Given the description of an element on the screen output the (x, y) to click on. 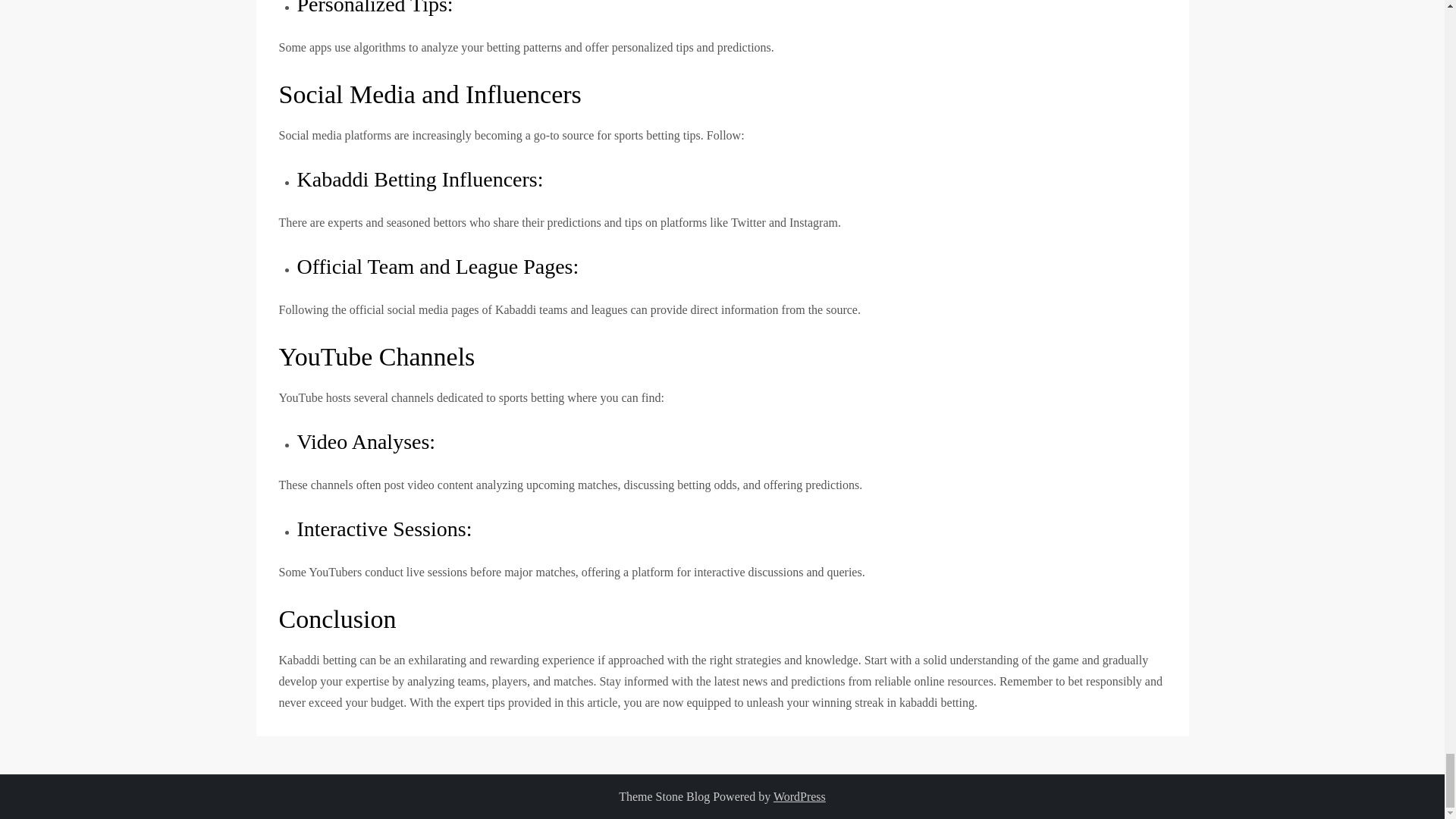
WordPress (799, 796)
